Given the description of an element on the screen output the (x, y) to click on. 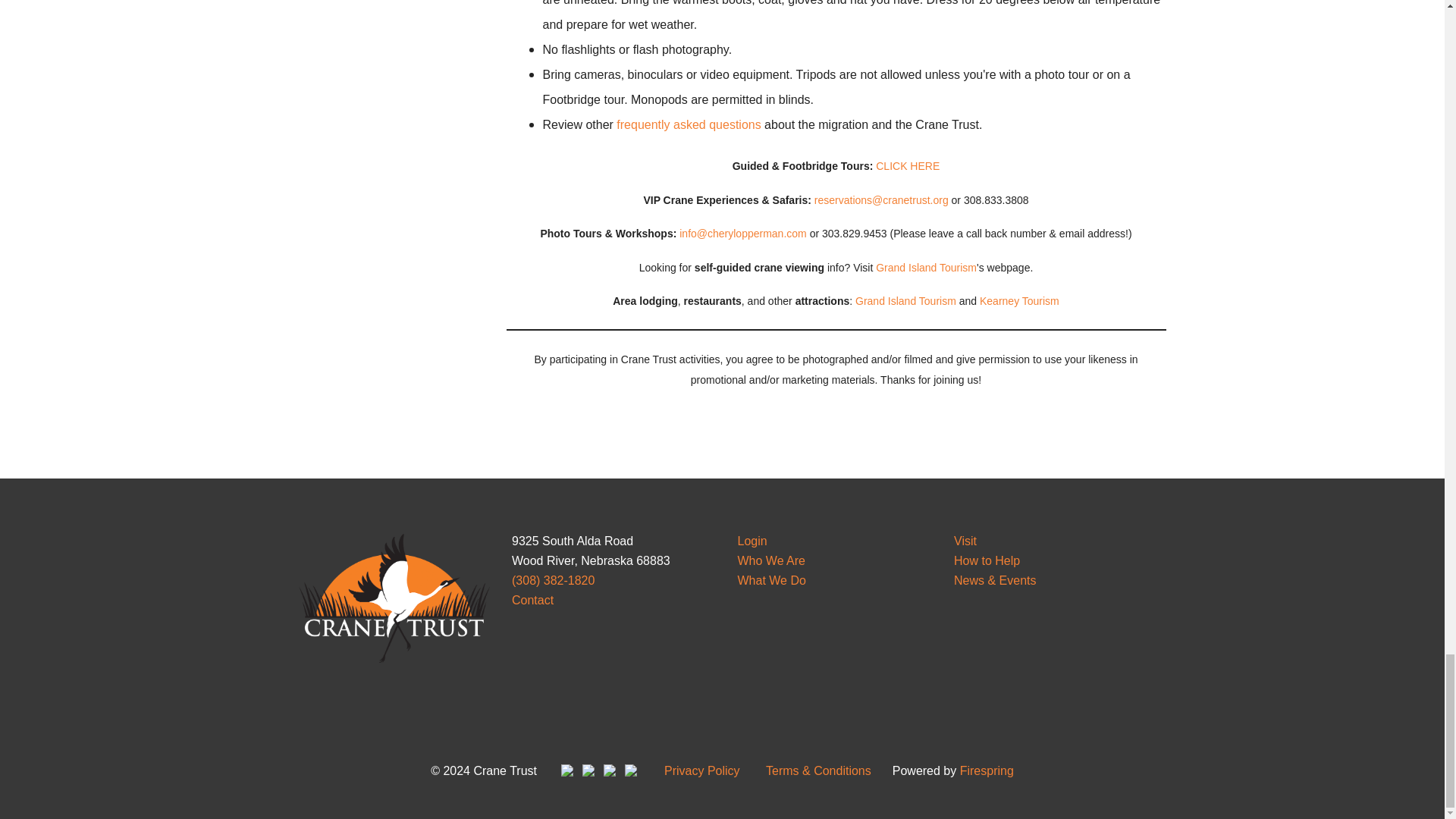
logo (391, 596)
